Given the description of an element on the screen output the (x, y) to click on. 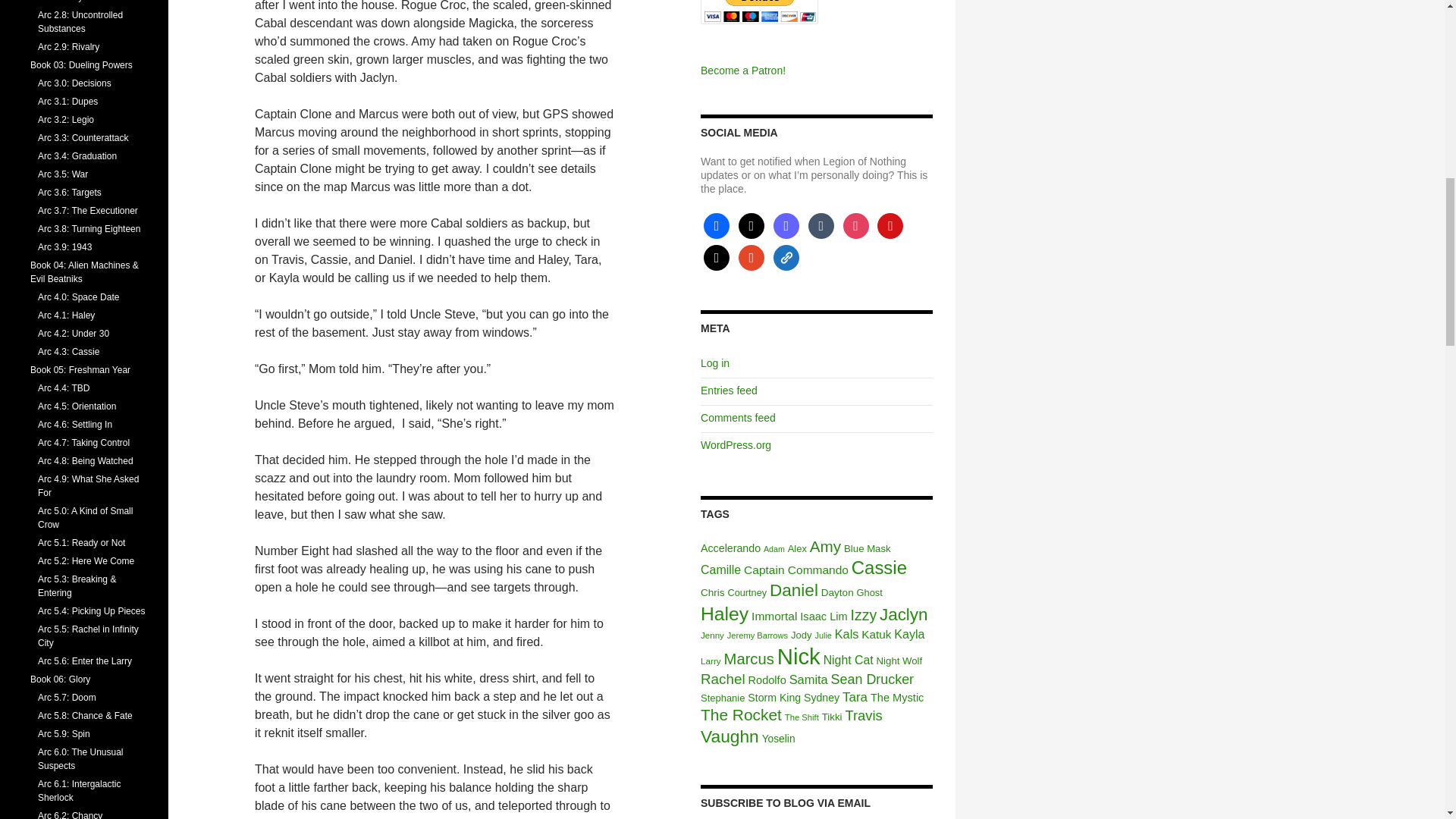
X (751, 224)
Facebook (716, 224)
